Given the description of an element on the screen output the (x, y) to click on. 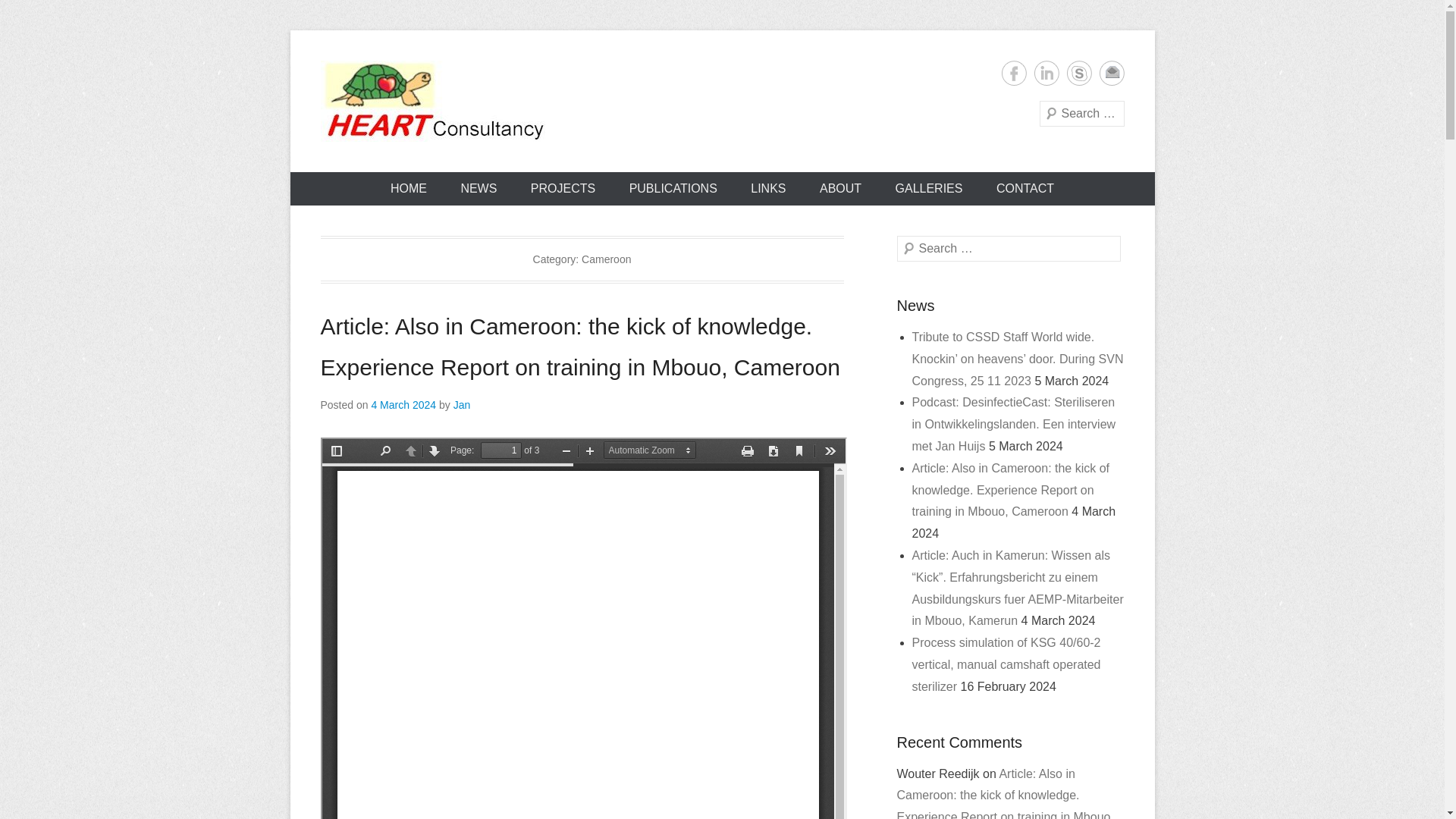
Skype (1077, 72)
CONTACT (1024, 188)
View all posts by Jan (461, 404)
Email (1111, 72)
PUBLICATIONS (673, 188)
Email (1111, 72)
LINKS (767, 188)
ABOUT (840, 188)
Facebook (1013, 72)
GALLERIES (929, 188)
Sterilization of medical supplies (608, 168)
PROJECTS (562, 188)
Facebook (1013, 72)
Skype (1077, 72)
20:01 (403, 404)
